Given the description of an element on the screen output the (x, y) to click on. 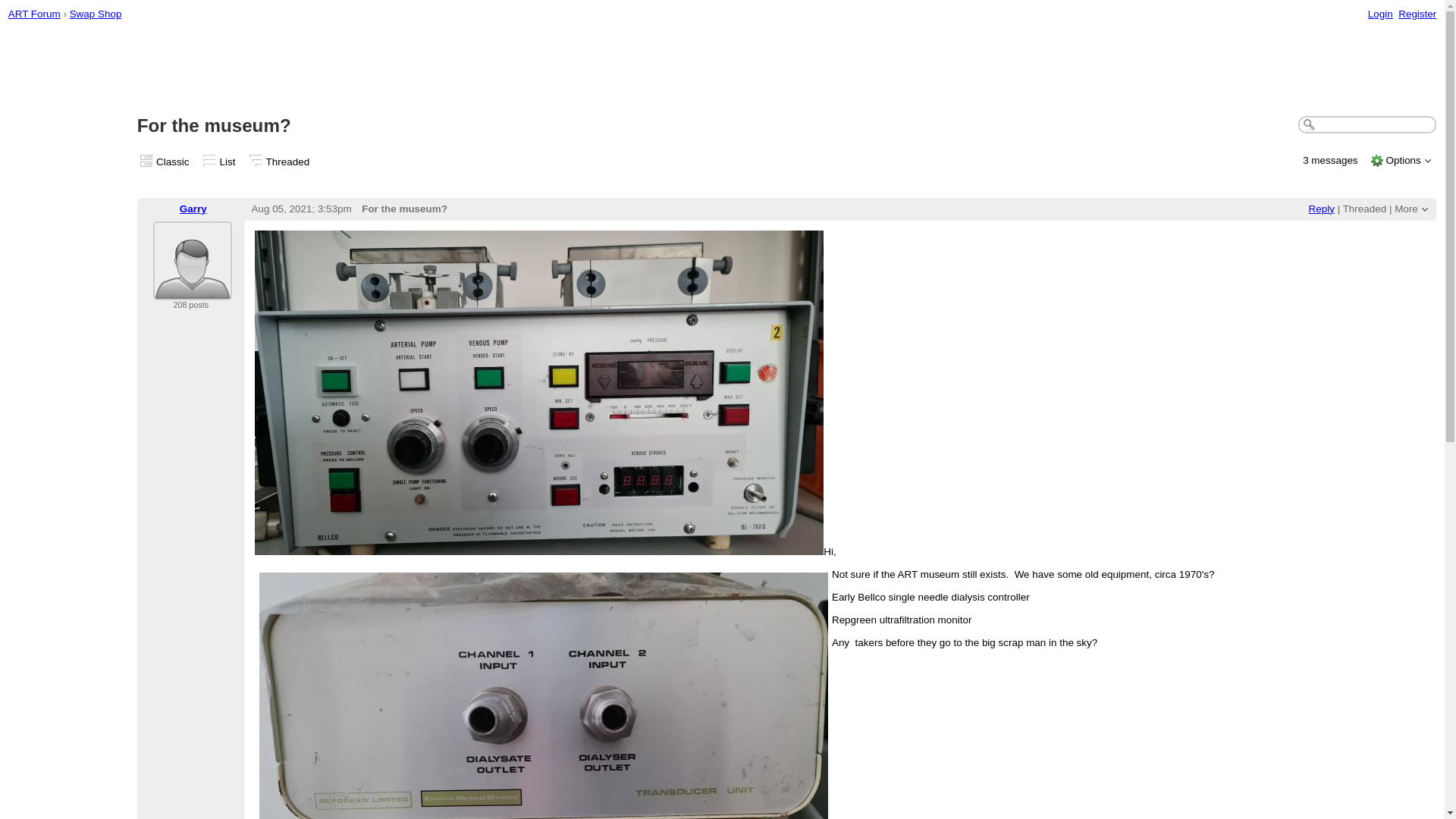
Garry (191, 260)
View profile of Garry (191, 290)
Threaded (288, 161)
Click for more options (1406, 208)
Threaded (1364, 208)
Login (1380, 13)
ART Forum (34, 13)
Options (1403, 160)
More (1406, 208)
List (227, 161)
Reply (1321, 208)
Garry (192, 208)
Swap Shop (95, 13)
Click for more options (1403, 160)
Advertisement (721, 69)
